Given the description of an element on the screen output the (x, y) to click on. 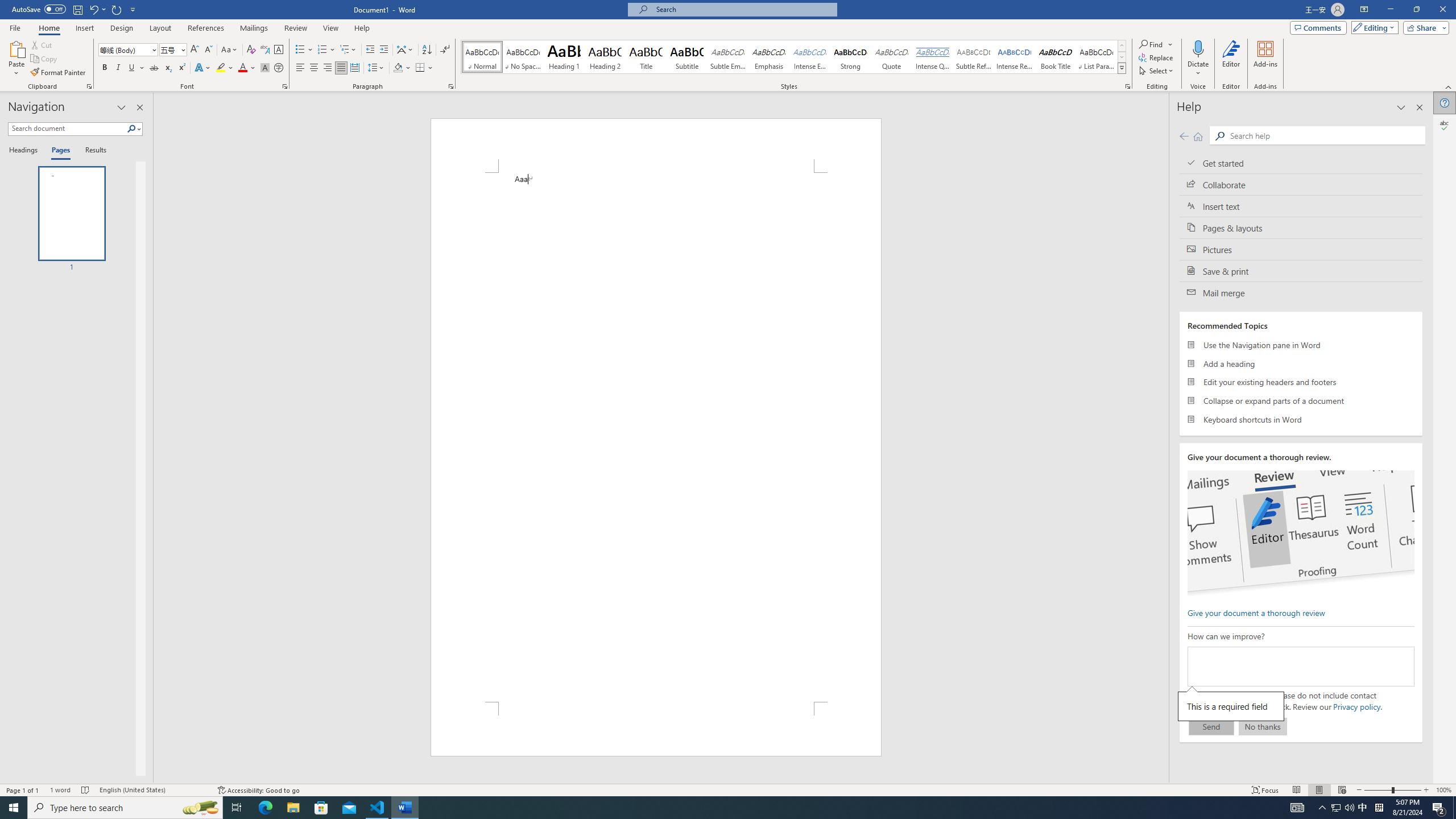
Keyboard shortcuts in Word (1300, 419)
Get started (1300, 162)
No thanks (1263, 726)
Add a heading (1300, 363)
